Given the description of an element on the screen output the (x, y) to click on. 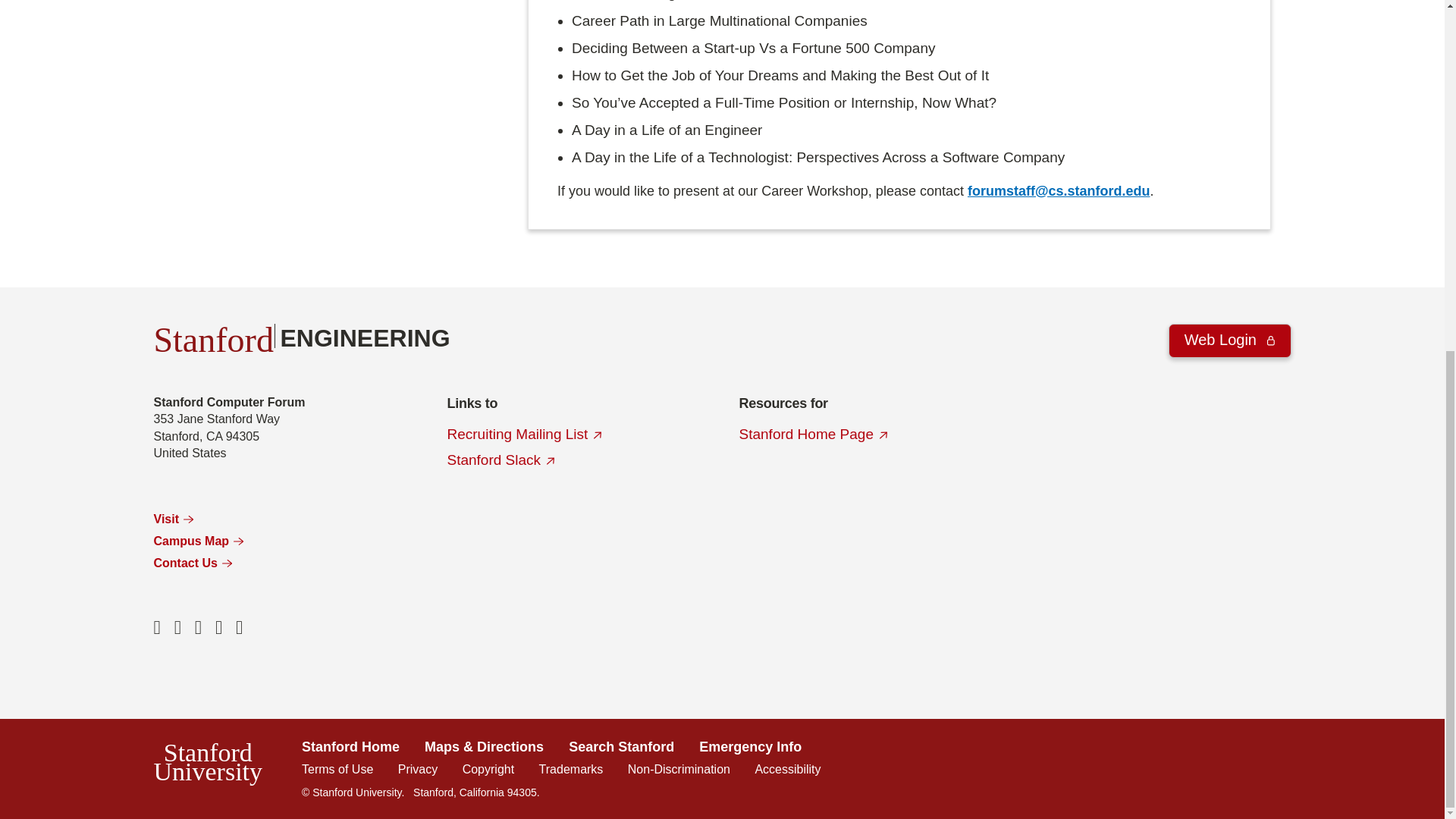
Ownership and use of Stanford trademarks and images (571, 768)
Non-discrimination policy (678, 768)
Privacy and cookie policy (417, 768)
Report web accessibility issues (787, 768)
Terms of use for sites (336, 768)
Report alleged copyright infringement (488, 768)
